Given the description of an element on the screen output the (x, y) to click on. 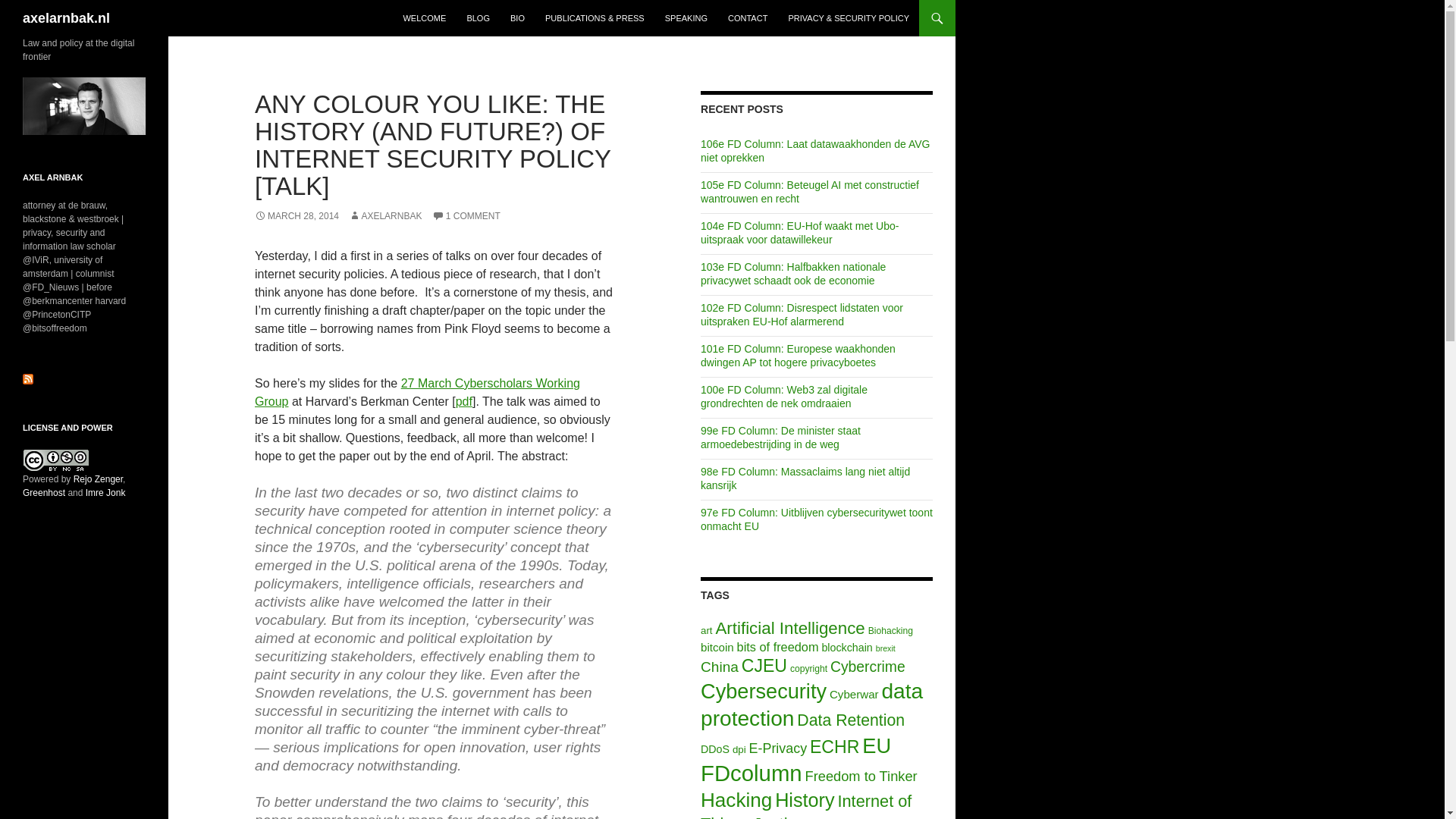
pdf (463, 400)
SPEAKING (686, 18)
106e FD Column: Laat datawaakhonden de AVG niet oprekken (815, 150)
WELCOME (423, 18)
1 COMMENT (466, 215)
BLOG (478, 18)
MARCH 28, 2014 (296, 215)
axelarnbak.nl (66, 18)
CONTACT (747, 18)
